Given the description of an element on the screen output the (x, y) to click on. 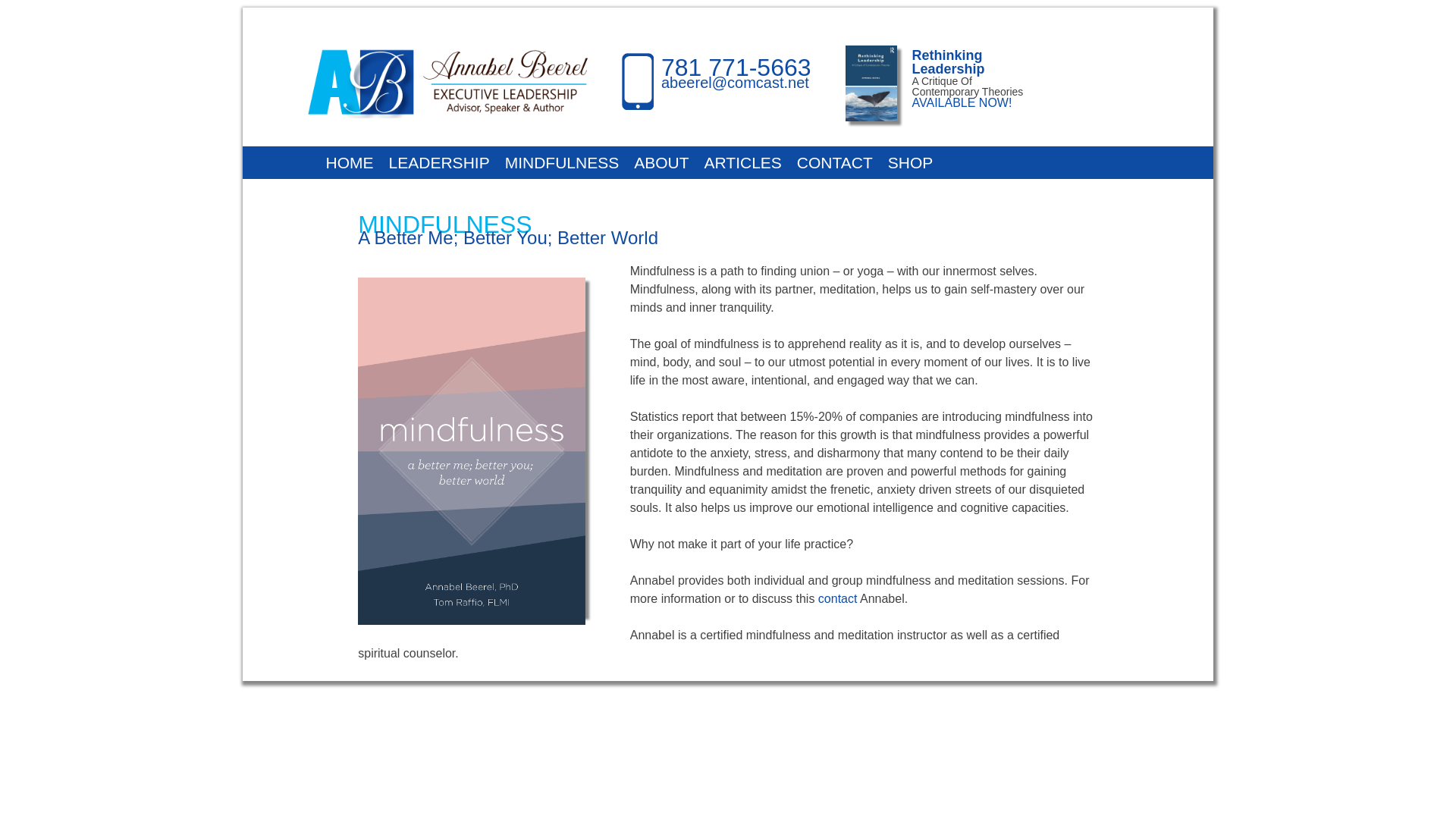
Rethinking Leadership (948, 61)
LEADERSHIP (438, 162)
HOME (350, 162)
781 771-5663 (735, 67)
ABOUT (660, 162)
MINDFULNESS (562, 162)
AVAILABLE NOW! (961, 102)
